Given the description of an element on the screen output the (x, y) to click on. 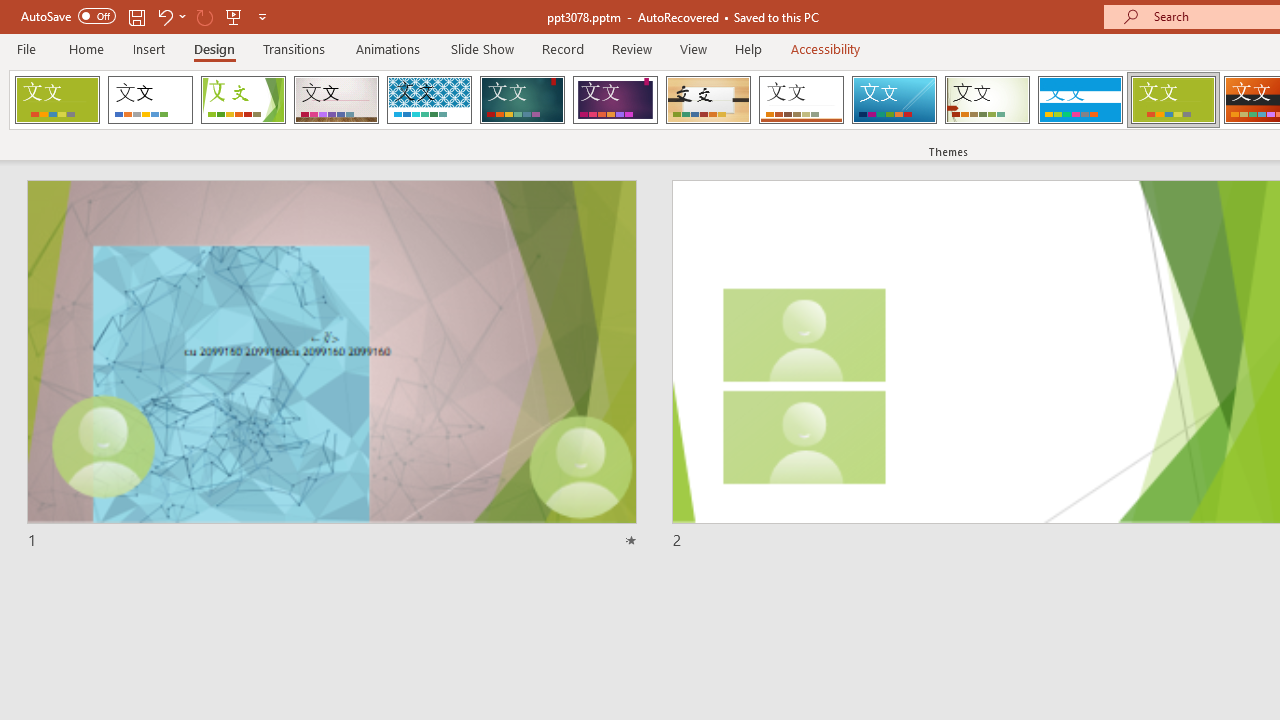
Ion (522, 100)
Ion Boardroom (615, 100)
Facet (243, 100)
